Given the description of an element on the screen output the (x, y) to click on. 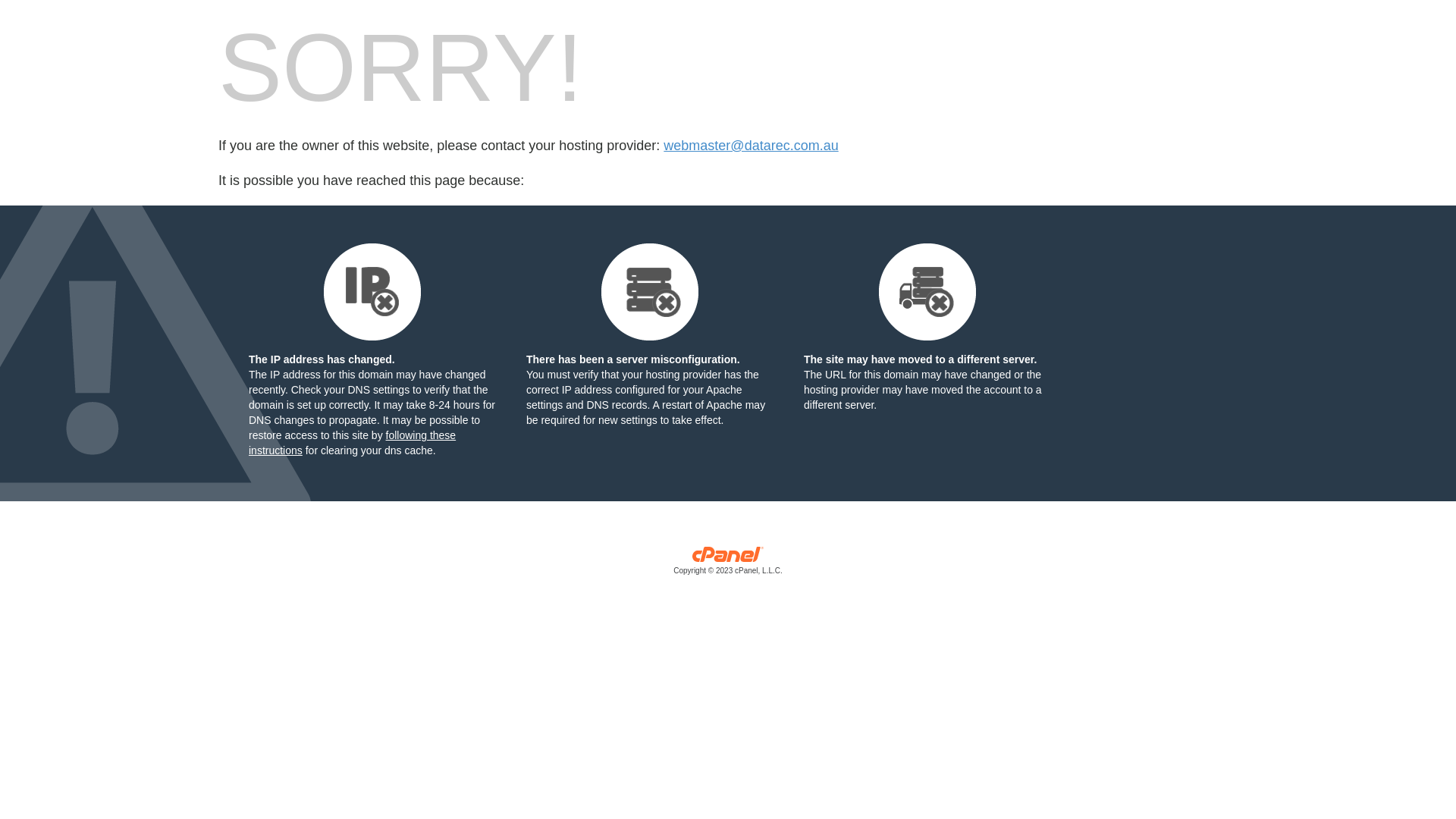
following these instructions Element type: text (351, 442)
webmaster@datarec.com.au Element type: text (750, 145)
